Given the description of an element on the screen output the (x, y) to click on. 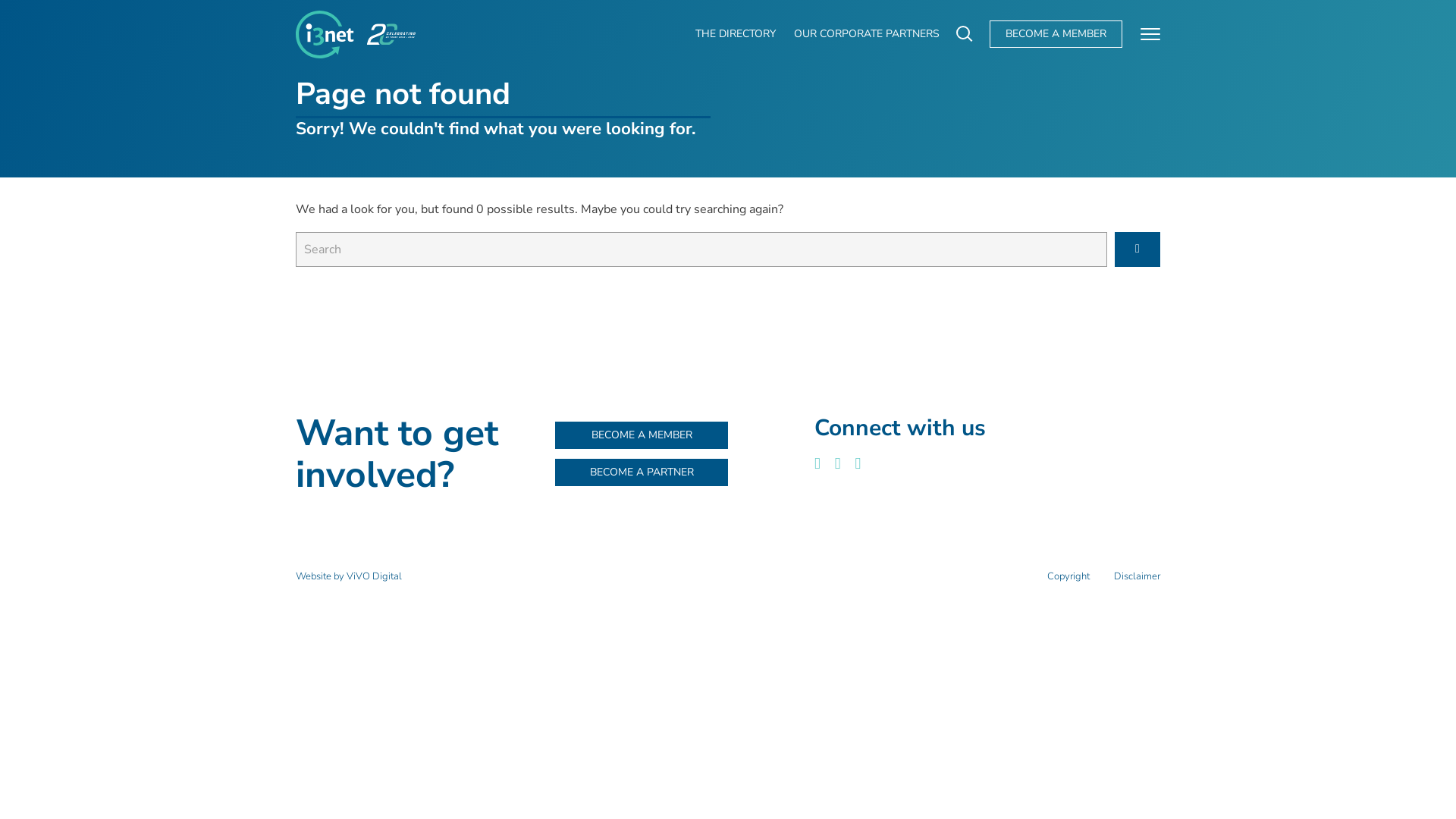
ViVO Digital Element type: text (373, 576)
Copyright Element type: text (1068, 576)
OUR CORPORATE PARTNERS Element type: text (866, 33)
BECOME A MEMBER Element type: text (641, 434)
Disclaimer Element type: text (1136, 576)
THE DIRECTORY Element type: text (735, 33)
BECOME A MEMBER Element type: text (1055, 33)
SKIP TO CONTENT Element type: text (6, 3)
BECOME A PARTNER Element type: text (641, 472)
